Given the description of an element on the screen output the (x, y) to click on. 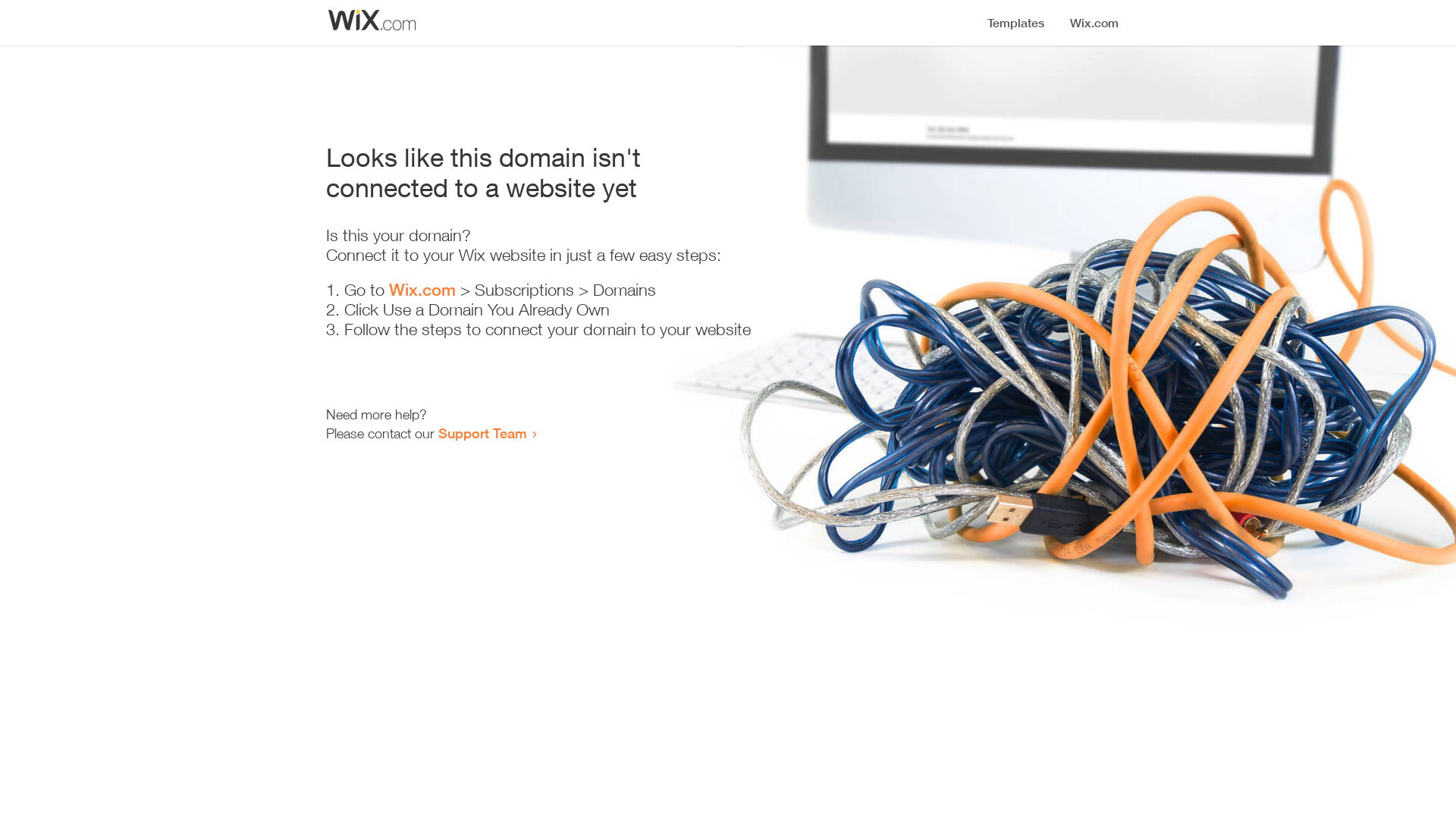
Support Team Element type: text (482, 432)
Wix.com Element type: text (422, 289)
